Given the description of an element on the screen output the (x, y) to click on. 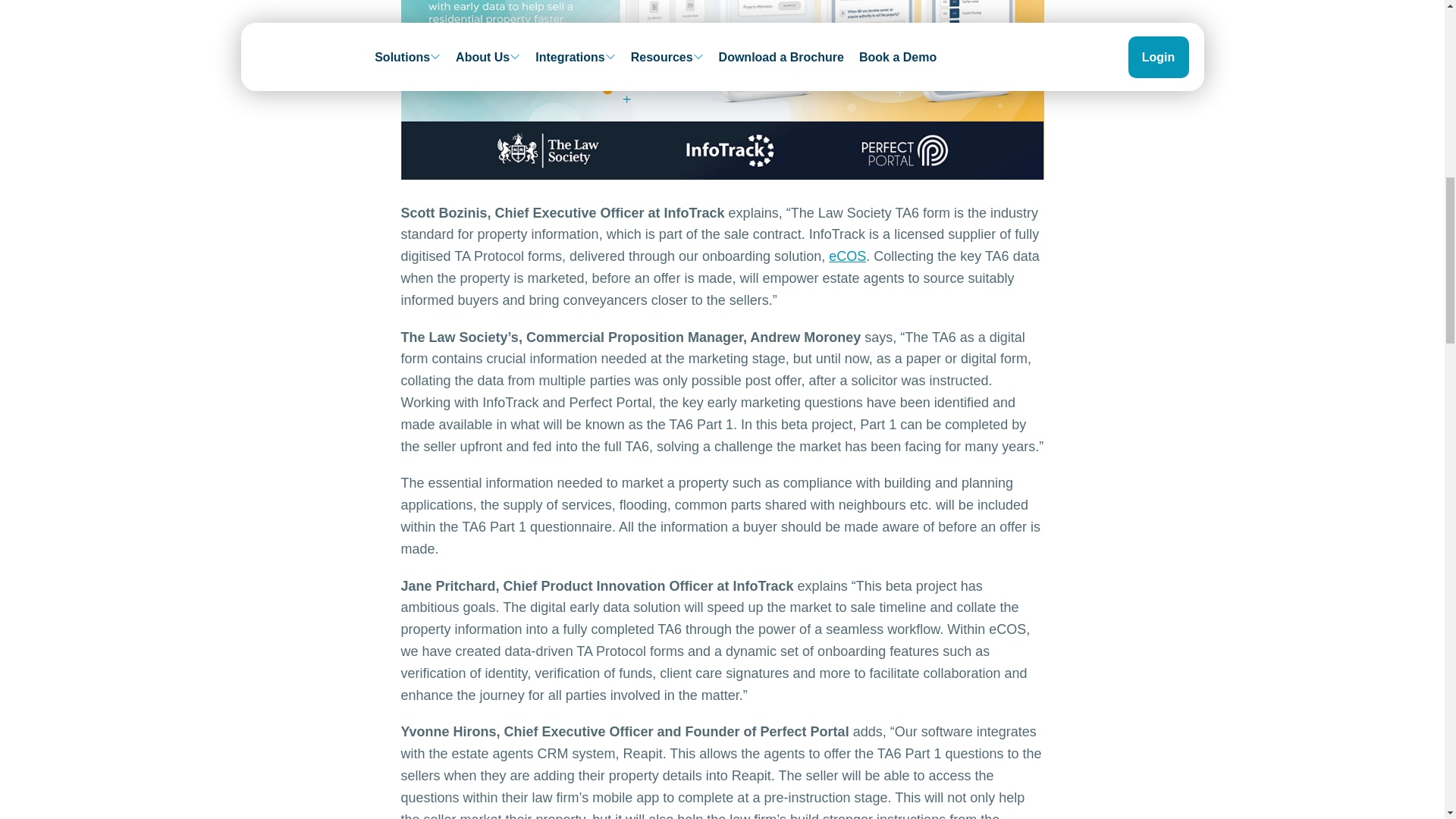
Download Brochures (793, 51)
Electronic client onboarding solutions (847, 255)
